Given the description of an element on the screen output the (x, y) to click on. 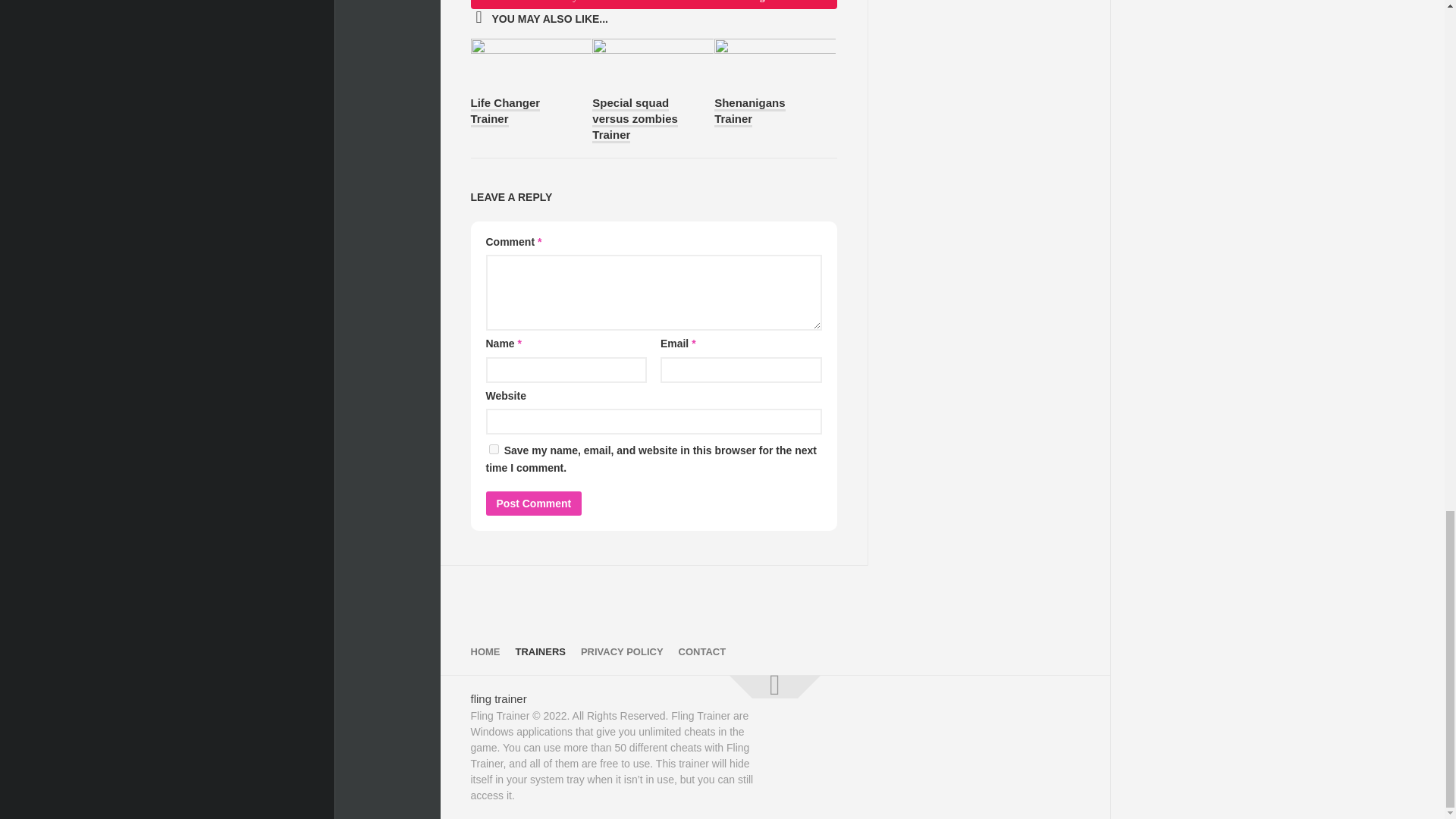
Post Comment (532, 503)
fling trainer (497, 698)
Special squad versus zombies Trainer (635, 119)
Shenanigans Trainer (749, 111)
yes (492, 449)
Post Comment (532, 503)
Life Changer Trainer (505, 111)
